Given the description of an element on the screen output the (x, y) to click on. 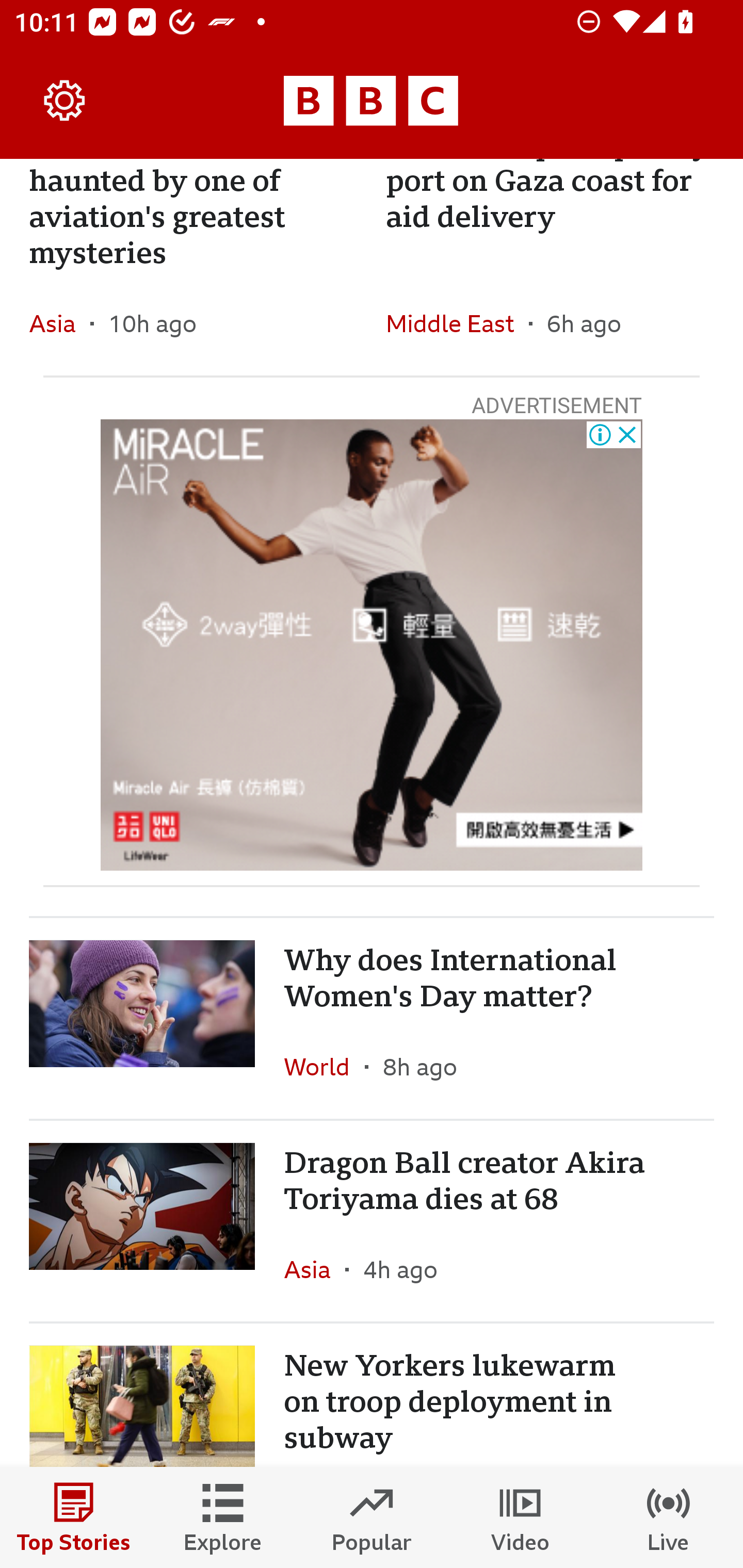
Settings (64, 100)
Asia In the section Asia (59, 322)
Middle East In the section Middle East (457, 322)
Advertisement (371, 644)
World In the section World (323, 1065)
Asia In the section Asia (314, 1268)
Explore (222, 1517)
Popular (371, 1517)
Video (519, 1517)
Live (668, 1517)
